Given the description of an element on the screen output the (x, y) to click on. 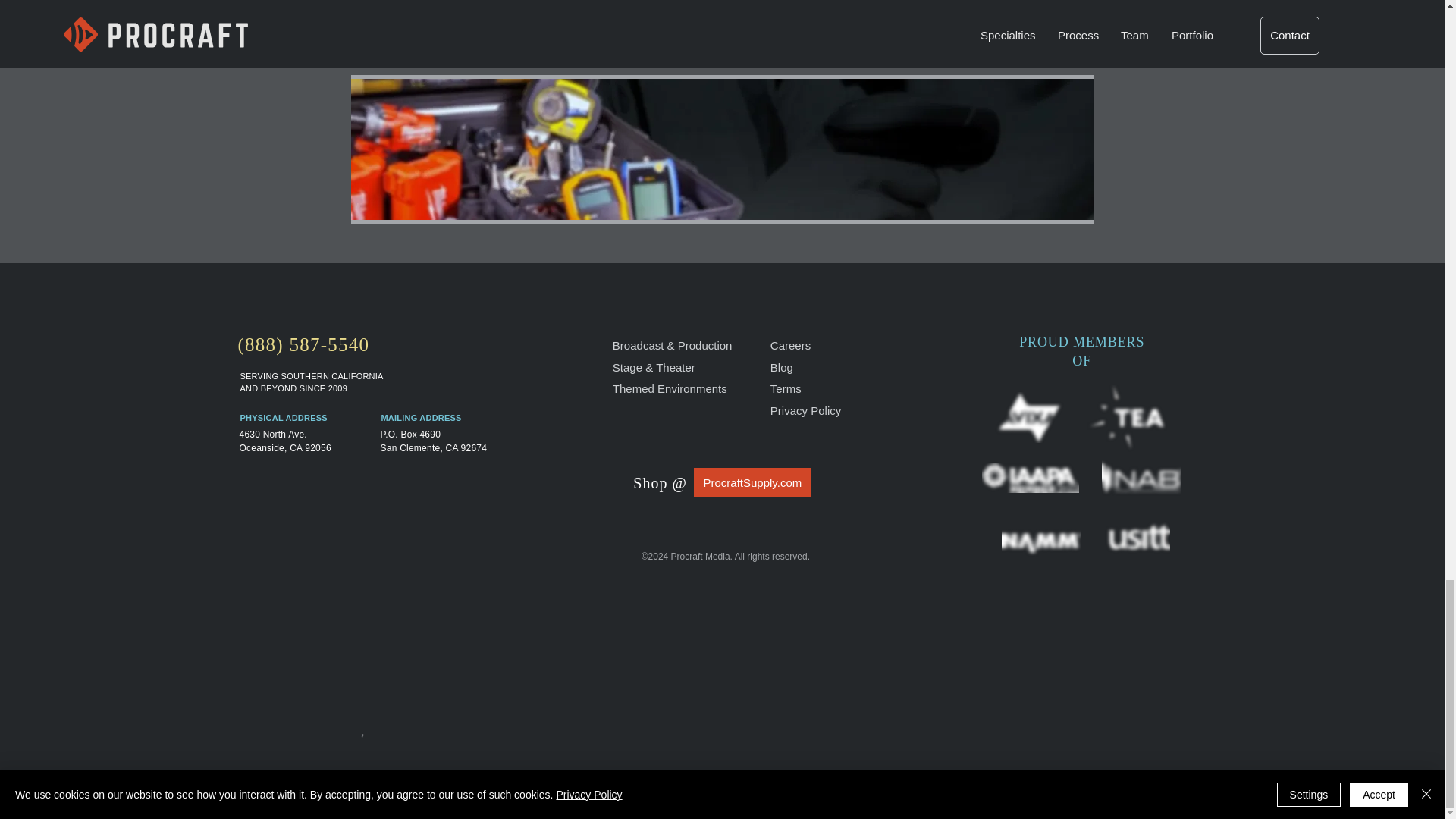
ProcraftSupply.com (752, 482)
Terms (786, 388)
Themed Environments (669, 388)
Privacy Policy (805, 410)
Blog (781, 366)
Careers (790, 345)
